Given the description of an element on the screen output the (x, y) to click on. 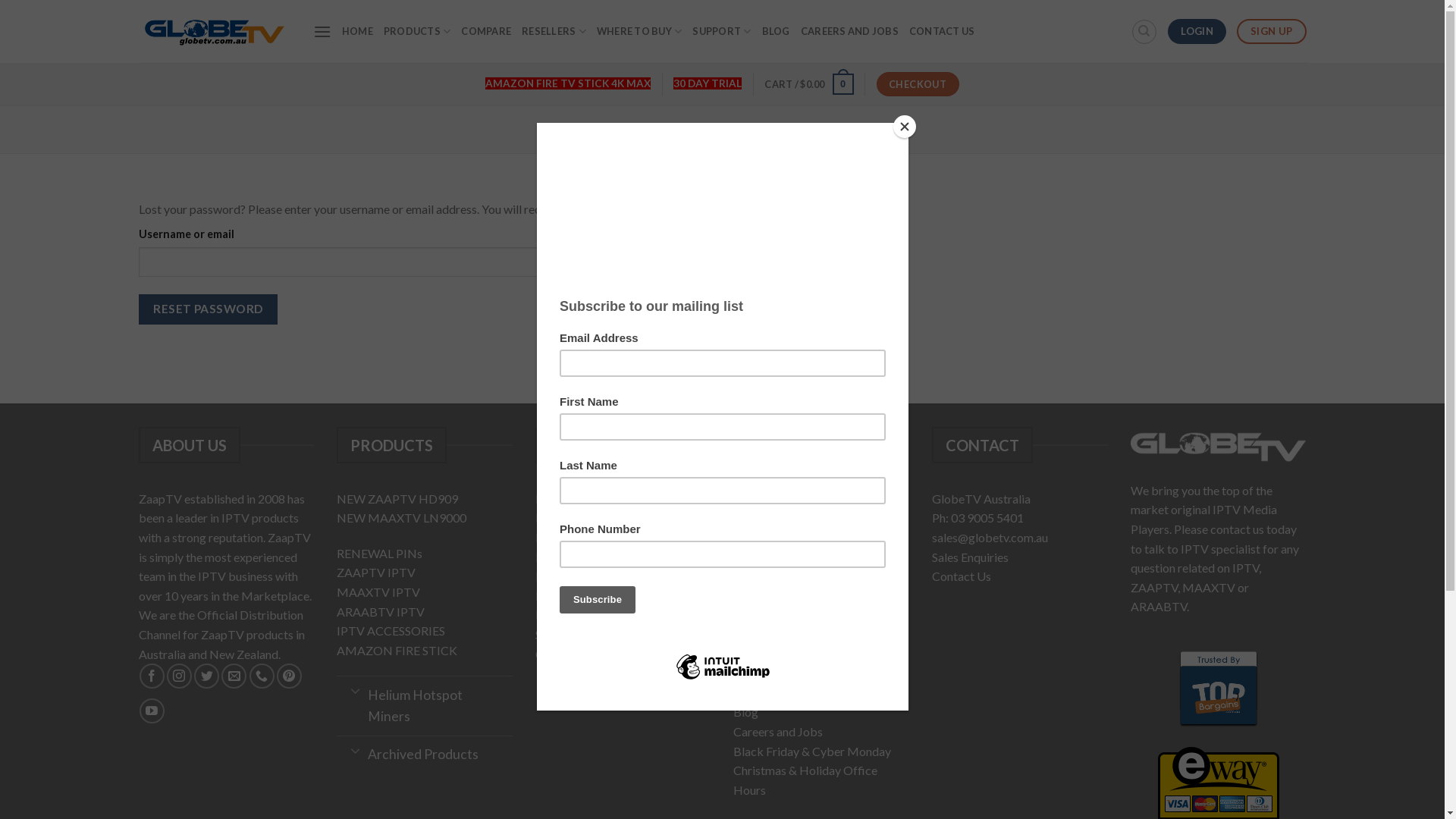
HOME Element type: text (357, 30)
Follow on Pinterest Element type: hover (288, 675)
SIGN UP Element type: text (1270, 30)
Archived Products Element type: text (424, 754)
CHECKOUT Element type: text (917, 84)
Newsletter Element type: text (762, 517)
Return Policy Element type: text (768, 672)
Black Friday & Cyber Monday Element type: text (812, 750)
Support Pages Element type: text (771, 595)
ZAAPTV IPTV Element type: text (375, 571)
Careers and Jobs Element type: text (777, 731)
Follow on YouTube Element type: hover (151, 710)
My Orders Element type: text (564, 595)
COMPARE Element type: text (486, 30)
AMAZON FIRE TV STICK 4K MAX Element type: text (567, 83)
CART / $0.00
0 Element type: text (808, 83)
ARAABTV IPTV Element type: text (380, 611)
WHERE TO BUY Element type: text (639, 31)
Customer Logout Element type: text (580, 653)
Catalogue Element type: text (760, 556)
Christmas & Holiday Office Hours Element type: text (805, 779)
BLOG Element type: text (776, 30)
My Tickets Element type: text (565, 614)
PRODUCTS Element type: text (417, 31)
Sales Enquiries Element type: text (969, 556)
NEW MAAXTV LN9000 Element type: text (401, 517)
RESET PASSWORD Element type: text (207, 308)
Edit Address Element type: text (568, 575)
LOGIN Element type: text (1196, 31)
Login/Register Element type: text (573, 498)
Privacy Policy Element type: text (770, 634)
SUPPORT Element type: text (721, 31)
RENEWAL PINs Element type: text (379, 553)
Submit Ticket Element type: text (572, 634)
Helium Hotspot Miners Element type: text (424, 704)
Edit Account Element type: text (568, 556)
MAAXTV IPTV Element type: text (378, 591)
Blog Element type: text (745, 711)
NEW ZAAPTV HD909 Element type: text (397, 498)
Follow on Twitter Element type: hover (206, 675)
Shipping Policy Element type: text (772, 653)
My Account Element type: text (567, 537)
Compare Products Element type: text (782, 537)
30 DAY TRIAL Element type: text (707, 83)
Contact Us Element type: text (961, 575)
Terms of Service Element type: text (776, 614)
IPTV ACCESSORIES Element type: text (390, 630)
Call us Element type: hover (261, 675)
CAREERS AND JOBS Element type: text (849, 30)
Follow on Facebook Element type: hover (151, 675)
Lost Password Element type: text (573, 517)
CONTACT US Element type: text (942, 30)
Follow on Instagram Element type: hover (178, 675)
AMAZON FIRE STICK Element type: text (396, 650)
Coupon Codes Element type: text (771, 575)
Send us an email Element type: hover (233, 675)
Disclaimer Element type: text (761, 692)
RESELLERS Element type: text (553, 31)
